Given the description of an element on the screen output the (x, y) to click on. 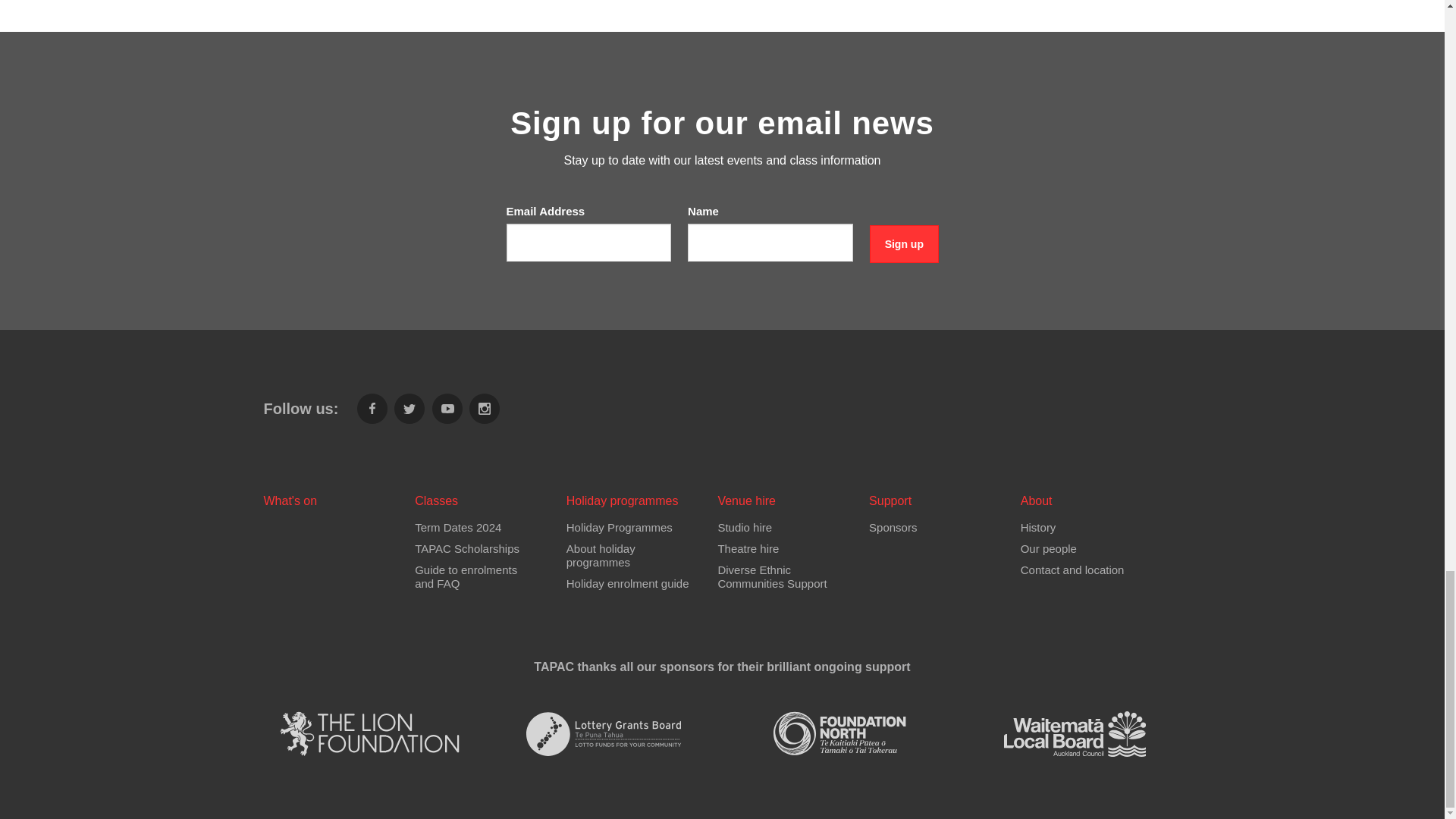
Follow us on Twitter (409, 408)
Join us on Facebook (371, 408)
Check us out on Instagram (483, 408)
Sign up (904, 244)
Learn with us on YouTube (447, 408)
